Given the description of an element on the screen output the (x, y) to click on. 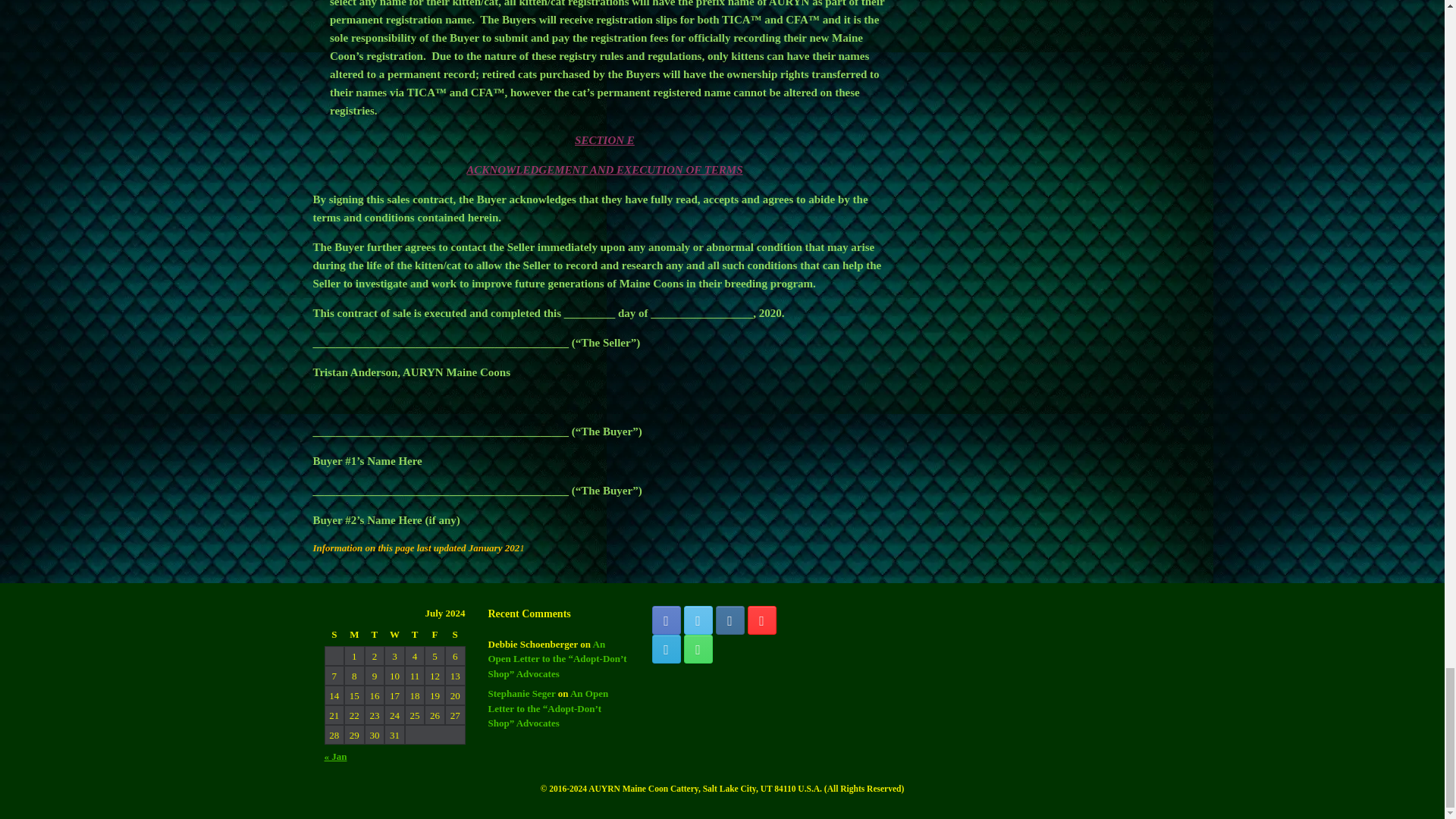
 Instagram (730, 620)
Sunday (334, 635)
Thursday (414, 635)
Saturday (455, 635)
Tuesday (375, 635)
Monday (354, 635)
Wednesday (394, 635)
 Facebook (666, 620)
 YouTube (762, 620)
 Email (666, 648)
 Phone (698, 648)
Friday (435, 635)
